Given the description of an element on the screen output the (x, y) to click on. 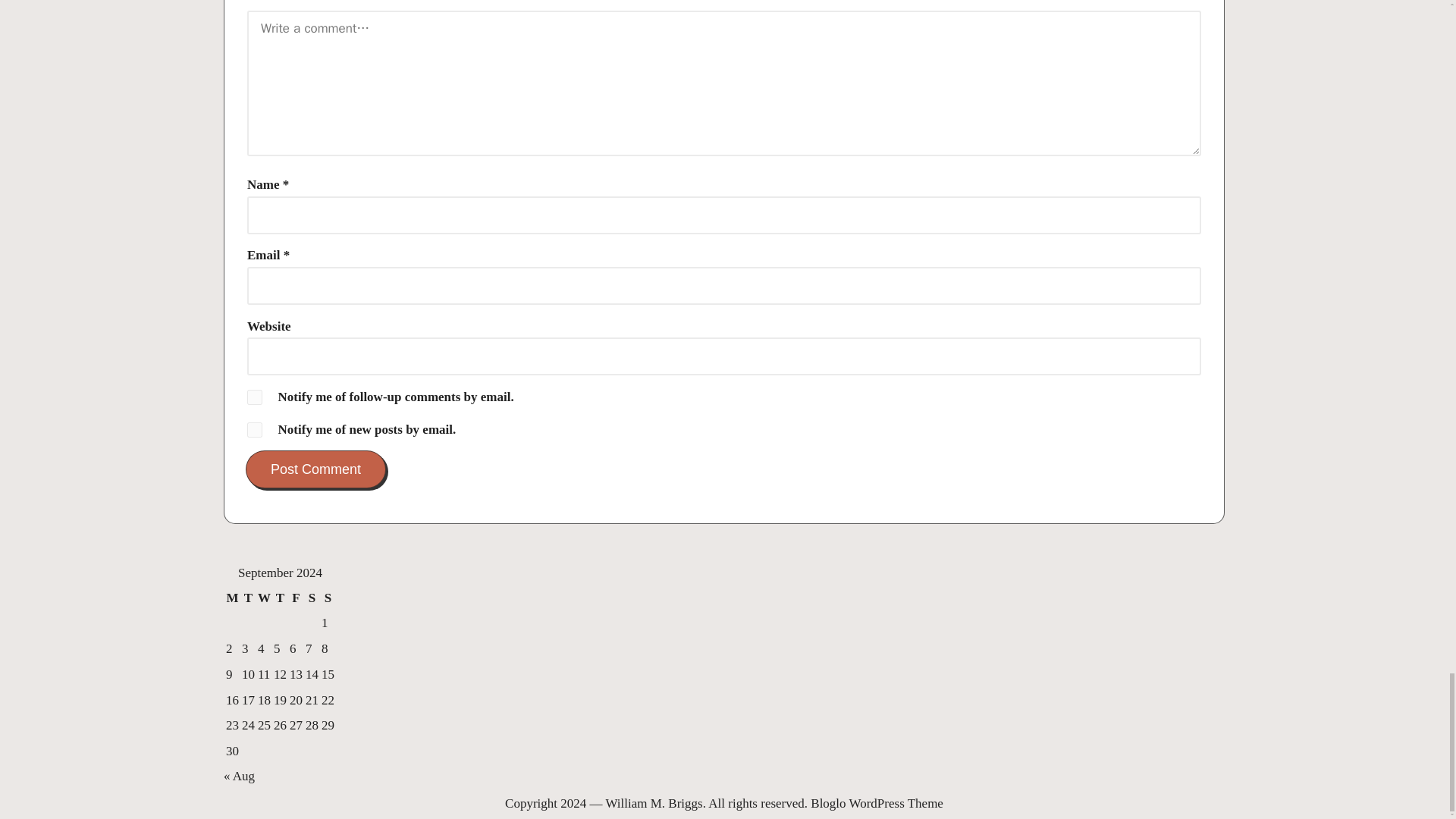
Post Comment (315, 469)
subscribe (254, 396)
subscribe (254, 429)
